Given the description of an element on the screen output the (x, y) to click on. 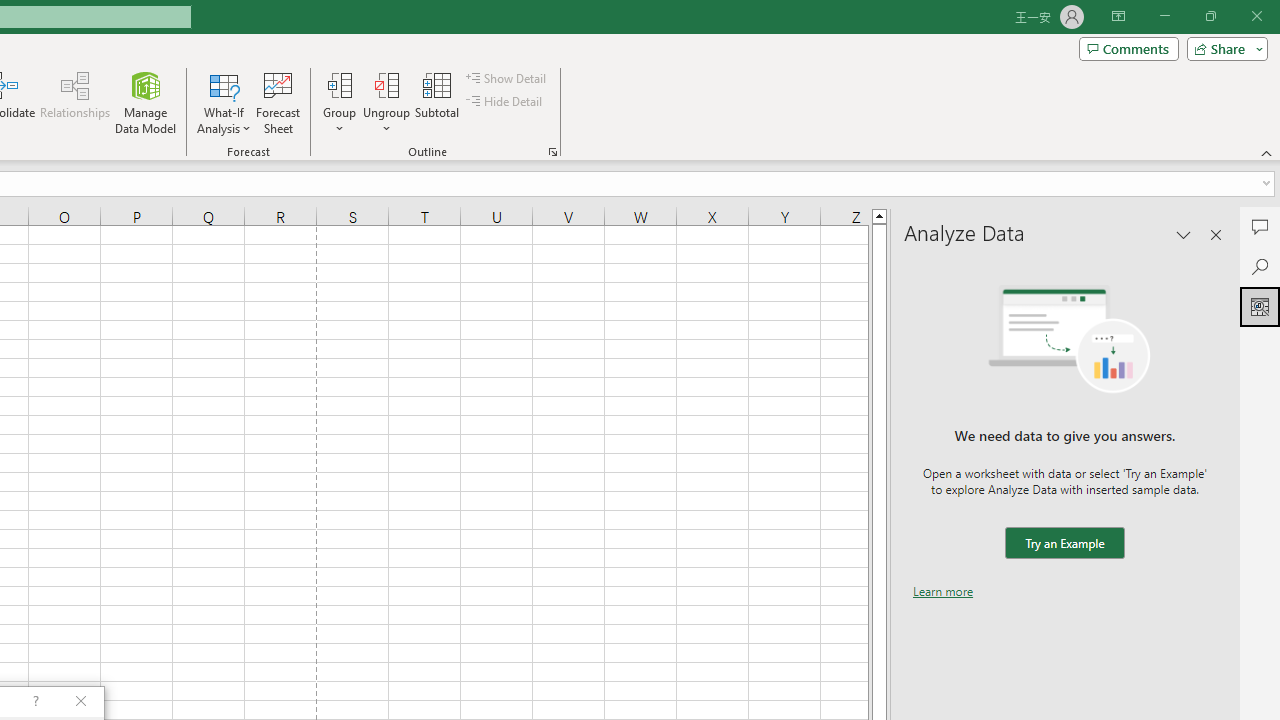
Restore Down (1210, 16)
Ungroup... (386, 84)
Analyze Data (1260, 306)
Group... (339, 102)
Relationships (75, 102)
More Options (386, 121)
Share (1223, 48)
Learn more (943, 591)
Collapse the Ribbon (1267, 152)
Ribbon Display Options (1118, 16)
Manage Data Model (145, 102)
Group... (339, 84)
We need data to give you answers. Try an Example (1064, 543)
Show Detail (507, 78)
Line up (879, 215)
